Given the description of an element on the screen output the (x, y) to click on. 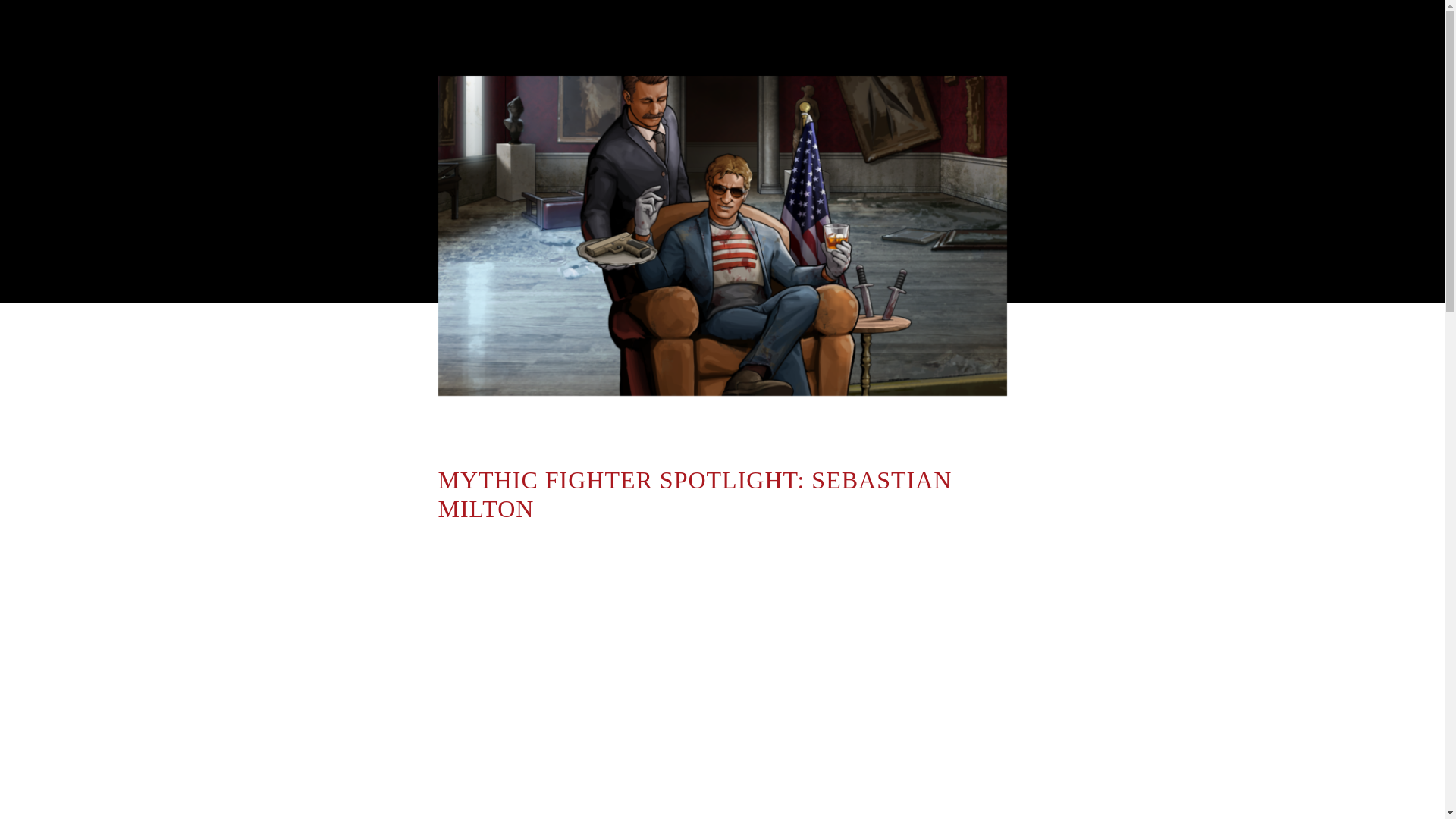
Share on Whatsapp (406, 529)
Copy to Clipboard (406, 594)
Tweet (406, 497)
SPOTLIGHT (951, 418)
Send (406, 561)
InvisiNerd (545, 418)
Share on Facebook (406, 464)
